Given the description of an element on the screen output the (x, y) to click on. 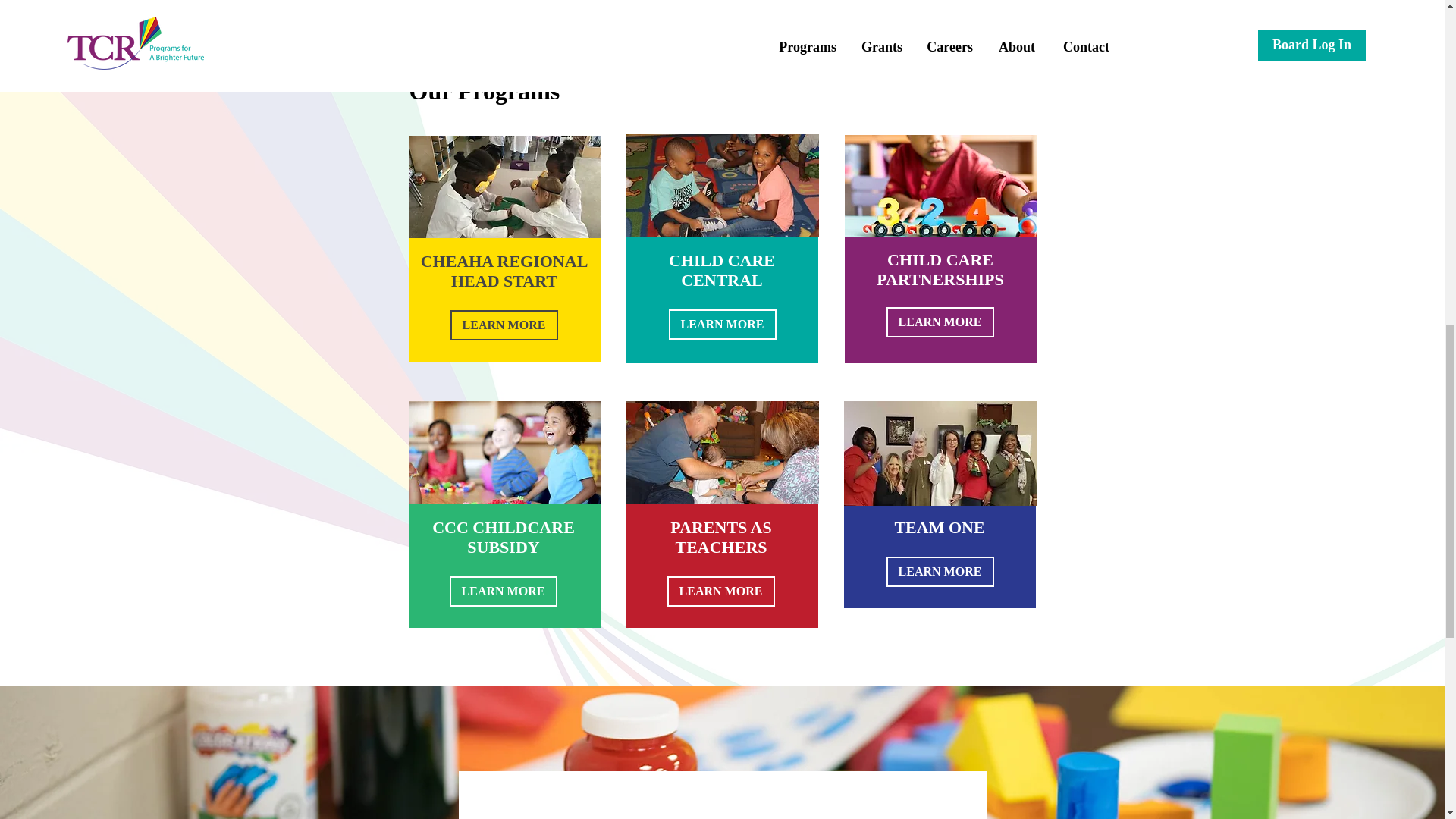
LEARN MORE (720, 591)
LEARN MORE (503, 325)
LEARN MORE (502, 591)
LEARN MORE (938, 322)
LEARN MORE (938, 571)
LEARN MORE (722, 324)
